Given the description of an element on the screen output the (x, y) to click on. 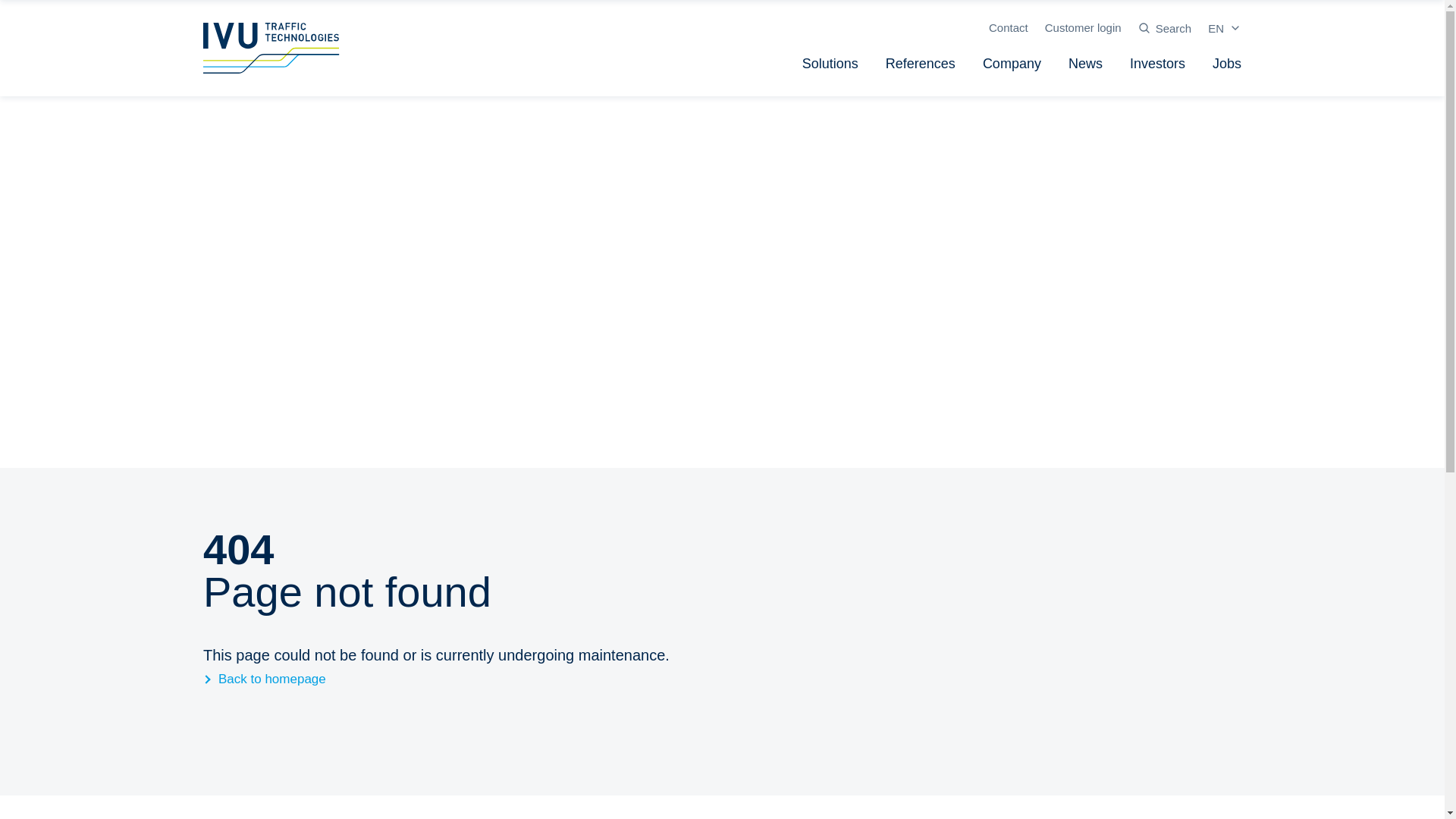
References (920, 64)
Customer login (1083, 27)
EN (1224, 28)
Contact (1007, 27)
Search (1165, 28)
Solutions (830, 64)
